Given the description of an element on the screen output the (x, y) to click on. 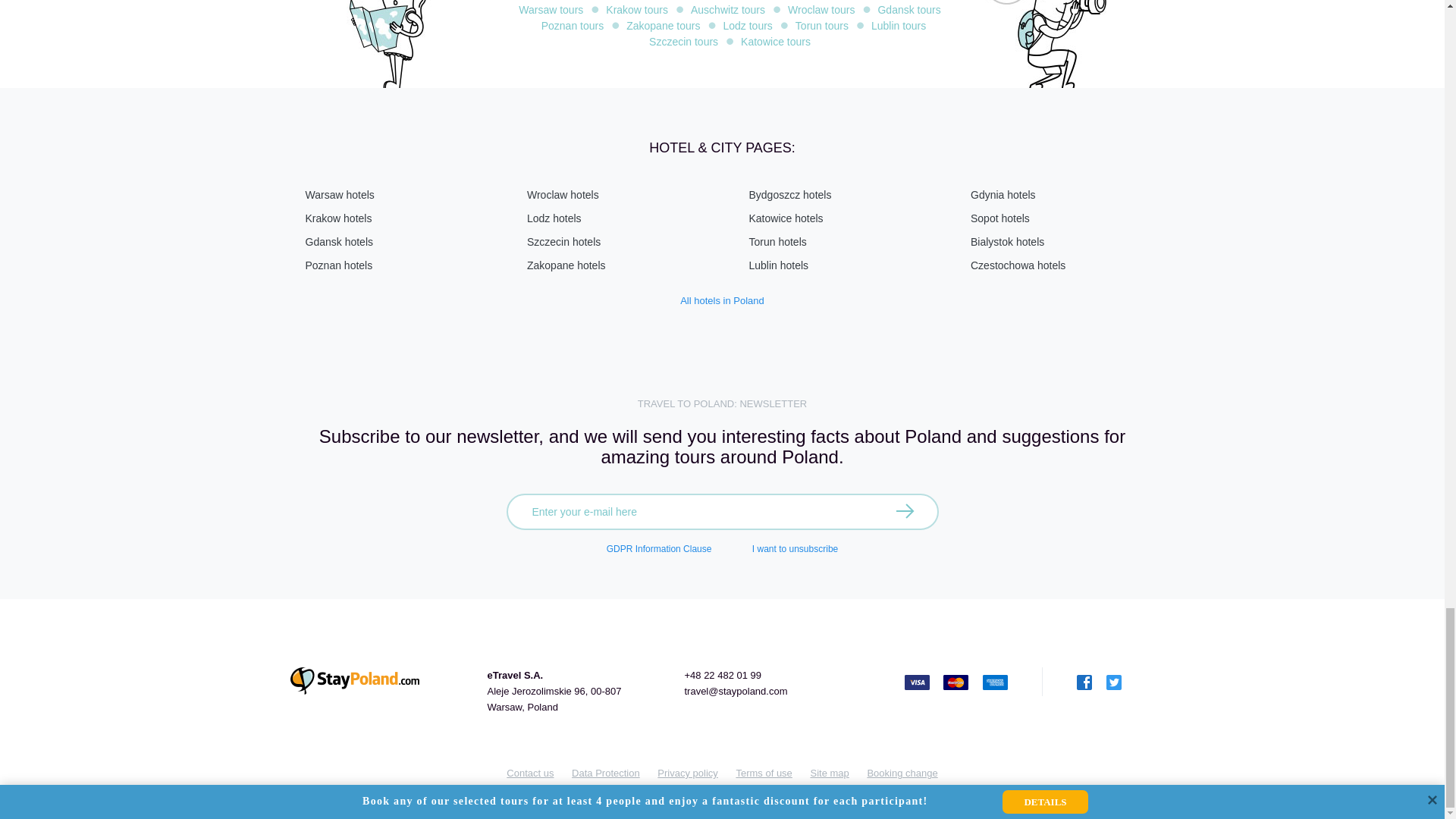
Warsaw tours (550, 9)
Krakow tours (636, 9)
